Given the description of an element on the screen output the (x, y) to click on. 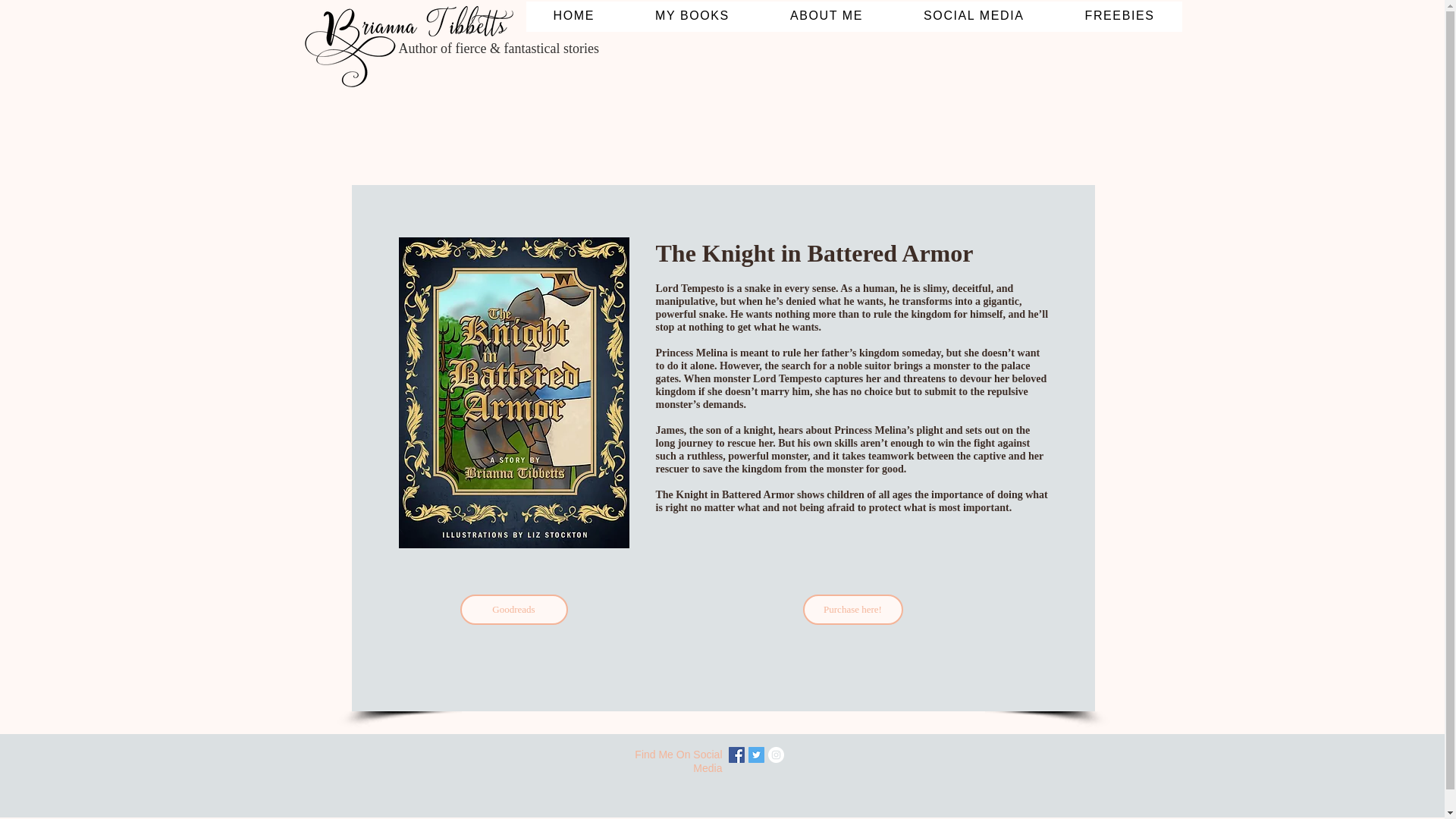
4.png (411, 48)
HOME (573, 16)
FREEBIES (1120, 16)
MY BOOKS (692, 16)
Goodreads (513, 609)
Purchase here! (852, 609)
ABOUT ME (825, 16)
SOCIAL MEDIA (973, 16)
